Given the description of an element on the screen output the (x, y) to click on. 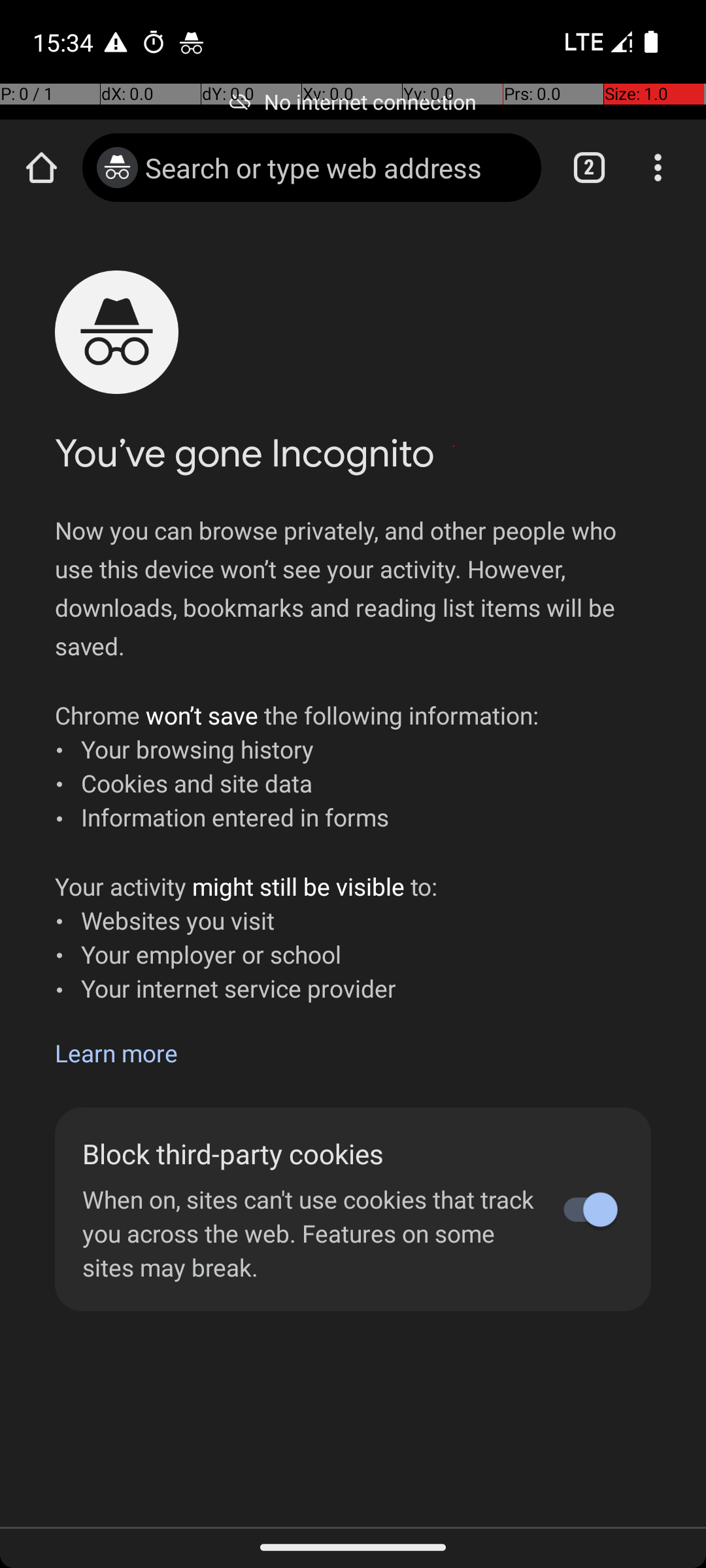
New Incognito tab Element type: android.widget.FrameLayout (353, 870)
Incognito mode Element type: android.widget.ImageView (117, 167)
Search or type web address Element type: android.widget.EditText (336, 167)
You’ve gone Incognito Element type: android.widget.TextView (244, 453)
Now you can browse privately, and other people who use this device won’t see your activity. However, downloads, bookmarks and reading list items will be saved. Element type: android.widget.TextView (352, 587)
Chrome won’t save the following information:
Your browsing history
Cookies and site data
Information entered in forms Element type: android.widget.TextView (296, 765)
Your activity might still be visible to:
Websites you visit
Your employer or school
Your internet service provider Element type: android.widget.TextView (245, 936)
Learn more Element type: android.widget.TextView (115, 1053)
Block third-party cookies Element type: android.widget.TextView (311, 1153)
When on, sites can't use cookies that track you across the web. Features on some sites may break. Element type: android.widget.TextView (311, 1232)
